Given the description of an element on the screen output the (x, y) to click on. 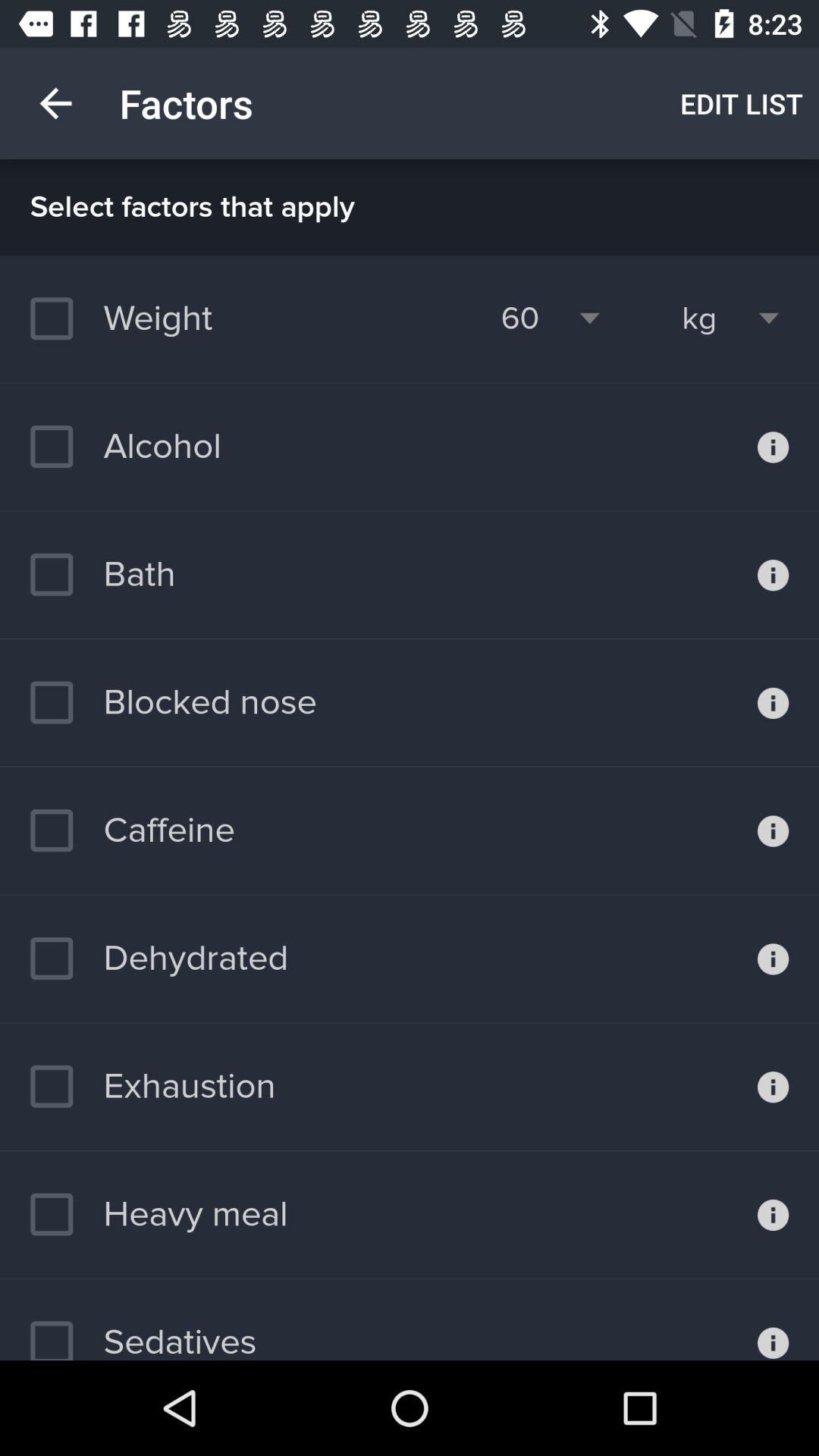
press the icon next to weight (519, 318)
